Given the description of an element on the screen output the (x, y) to click on. 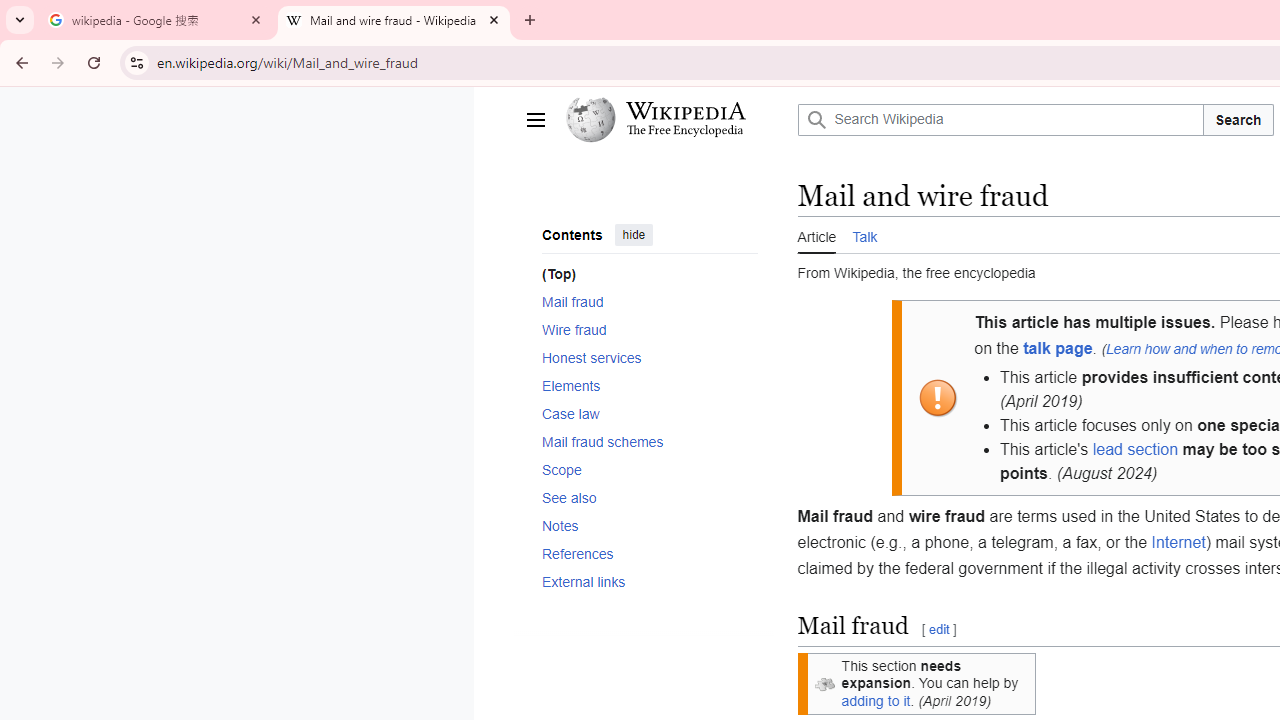
Mail fraud schemes (649, 440)
Case law (649, 412)
(Top) (649, 273)
AutomationID: toc-Elements (642, 385)
Talk (865, 235)
AutomationID: toc-Notes (642, 525)
Internet (1177, 541)
Search Wikipedia (1000, 119)
See also (649, 497)
hide (633, 234)
[icon] (824, 683)
External links (649, 581)
